Given the description of an element on the screen output the (x, y) to click on. 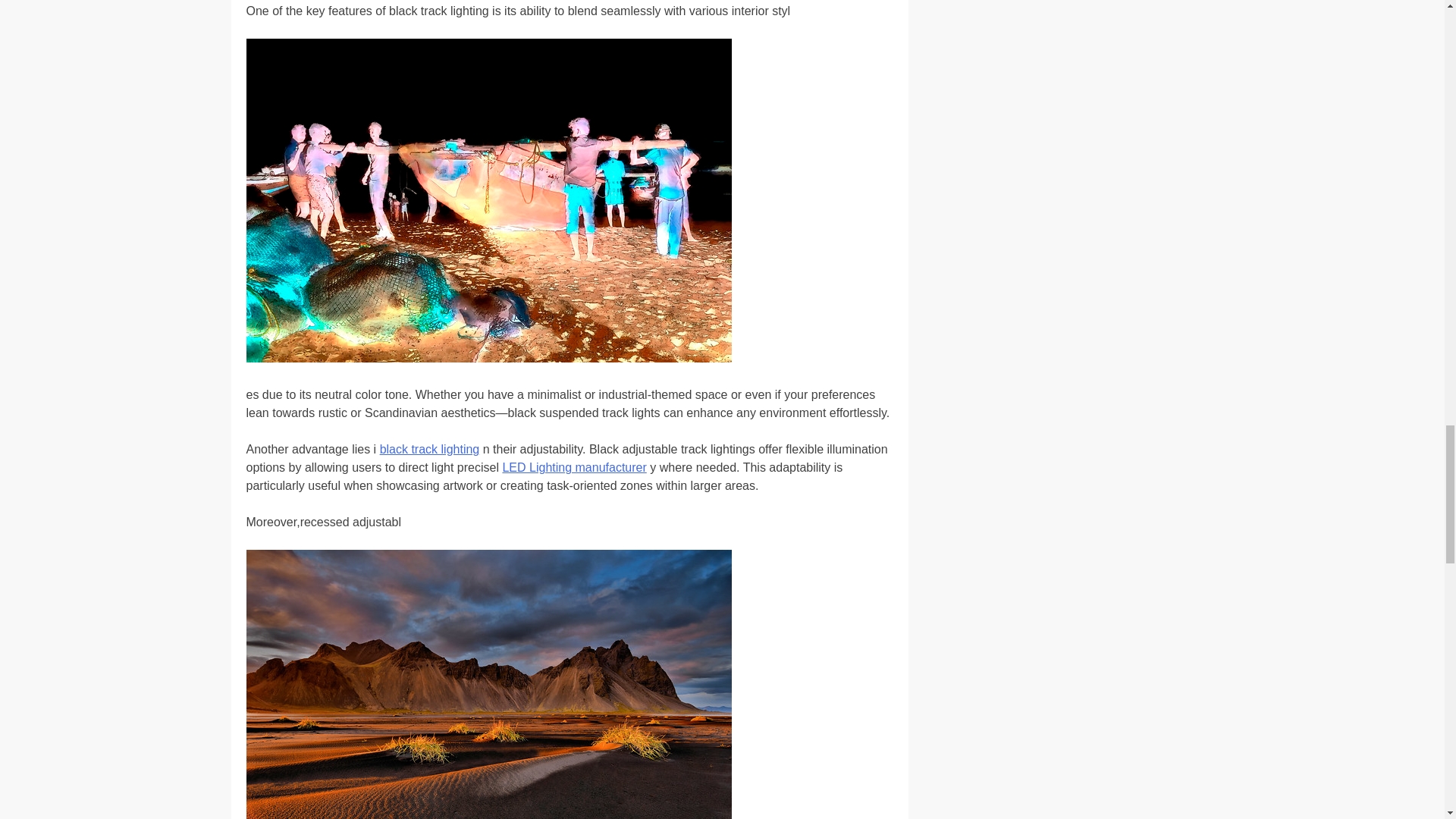
black track lighting (430, 449)
LED Lighting manufacturer (574, 467)
